Given the description of an element on the screen output the (x, y) to click on. 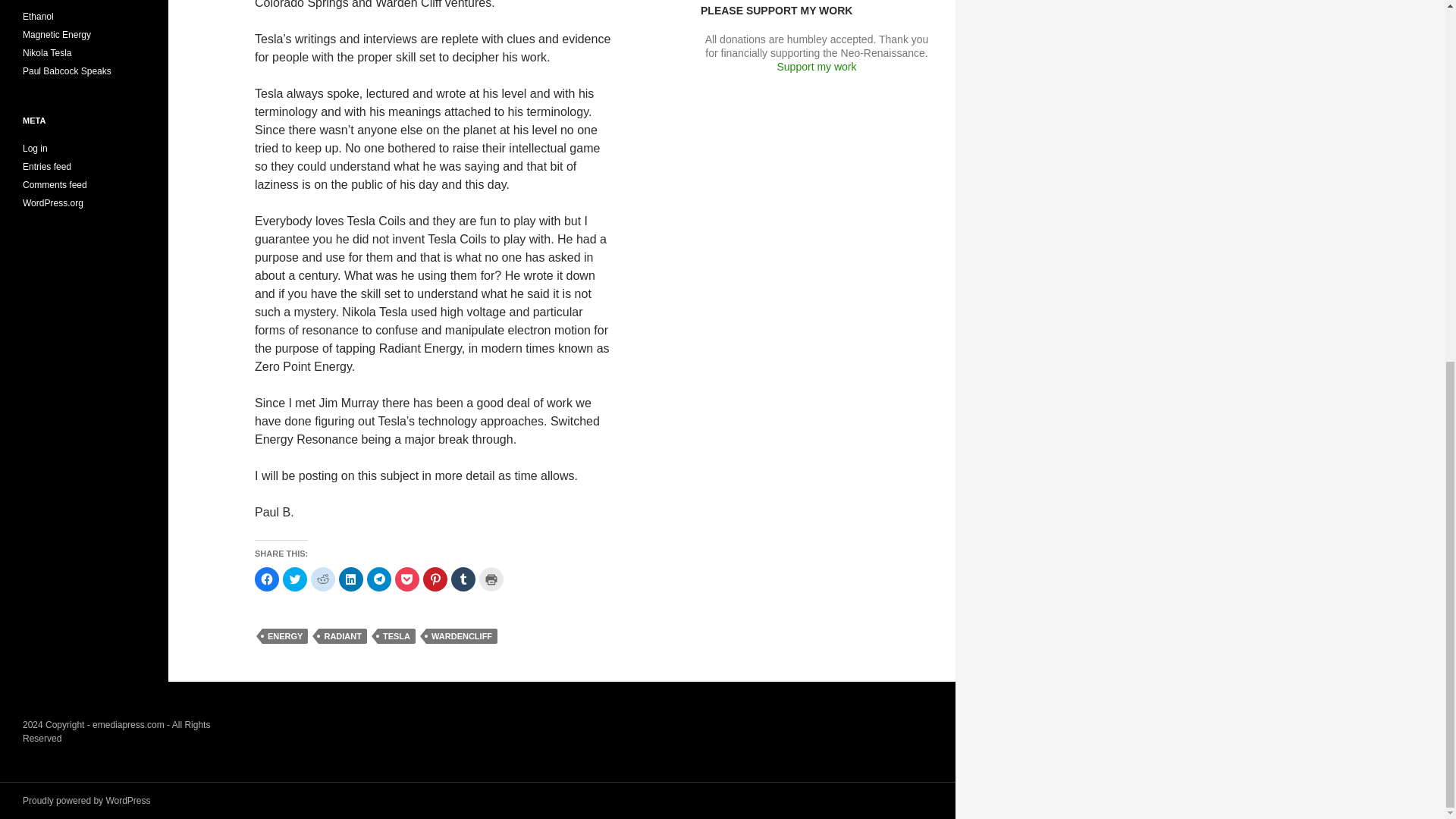
Philosophy, Insights, Solutions, Knowledge.  (67, 71)
Support my work (816, 66)
Click to share on Pinterest (434, 579)
ENERGY (284, 635)
Rediscovering and rebuilding his lost work. (47, 52)
RADIANT (342, 635)
Click to share on Reddit (322, 579)
Ethanol (38, 16)
Click to share on Telegram (378, 579)
